Given the description of an element on the screen output the (x, y) to click on. 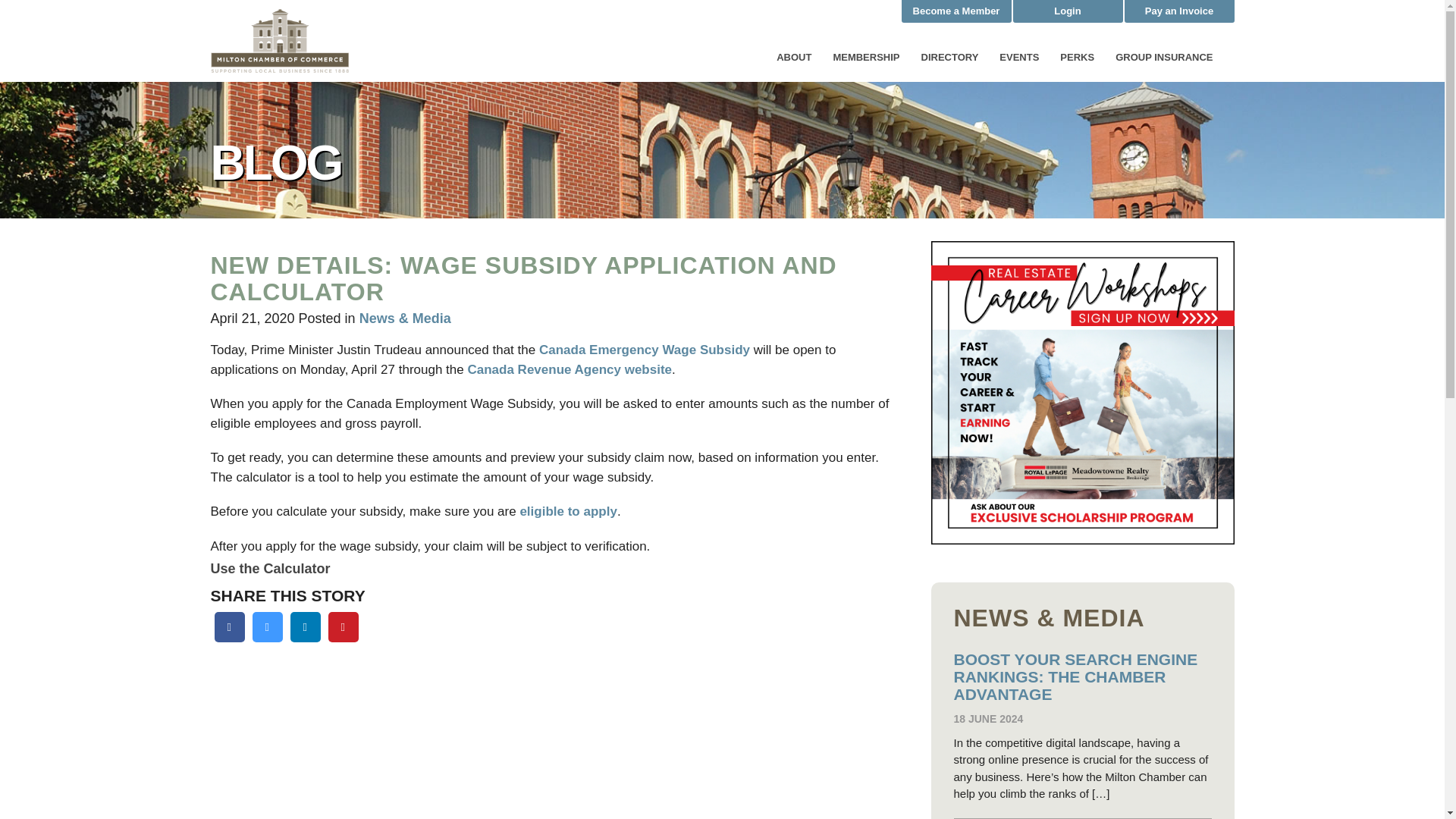
ABOUT (793, 57)
Share on Pinterest (342, 637)
Become a Member (955, 11)
Login (1067, 11)
Share on Twitter (266, 637)
eligible to apply (567, 511)
Share on Facebook (229, 637)
DIRECTORY (949, 57)
EVENTS (1018, 57)
PERKS (1076, 57)
Share to LinkedIn (304, 637)
MEMBERSHIP (865, 57)
Pay an Invoice (1178, 11)
Use the Calculator (270, 568)
GROUP INSURANCE (1163, 57)
